Given the description of an element on the screen output the (x, y) to click on. 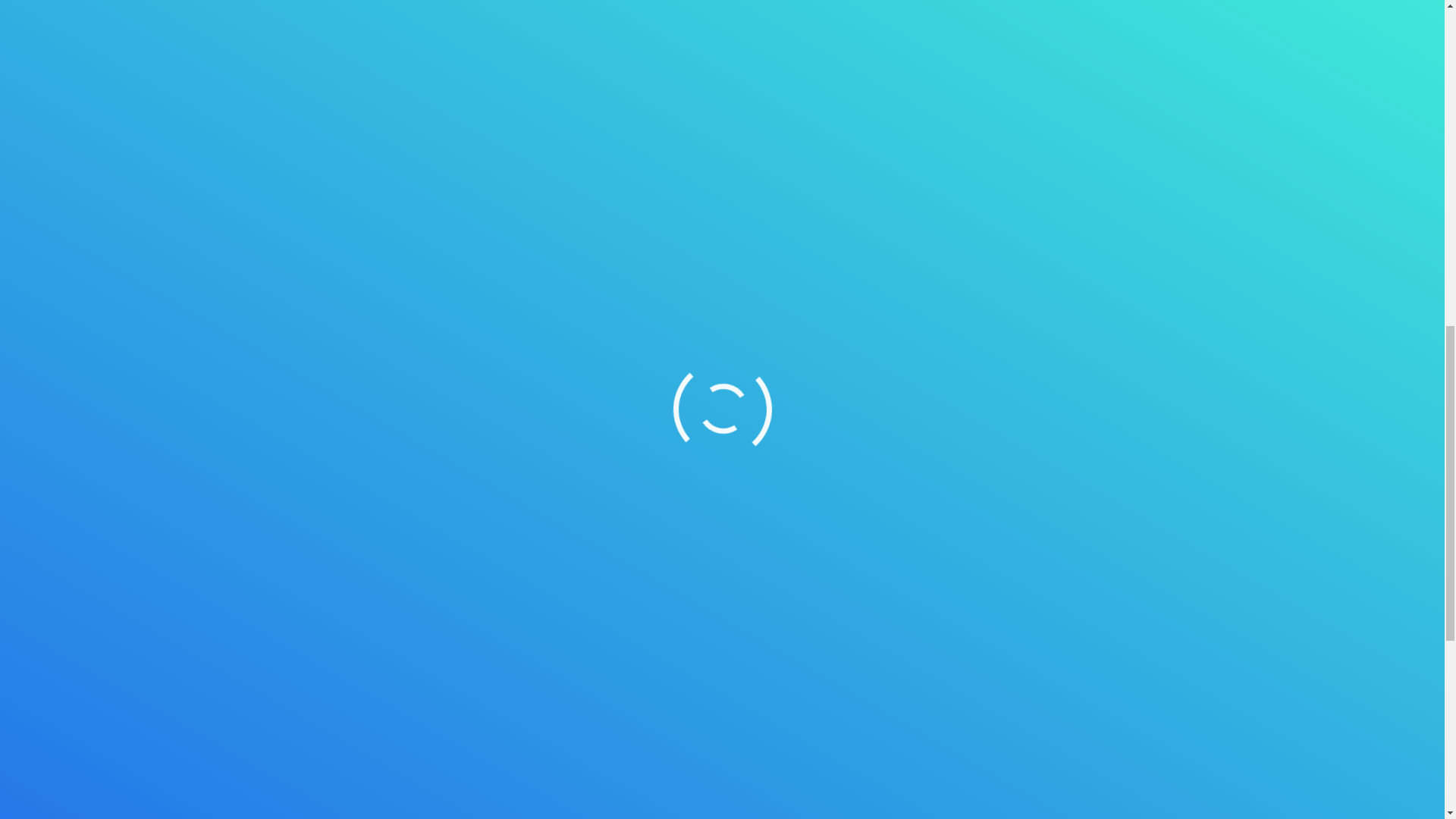
chief technology officer (586, 23)
mobile devices (449, 208)
Web experience (630, 128)
smartphone (455, 146)
